Given the description of an element on the screen output the (x, y) to click on. 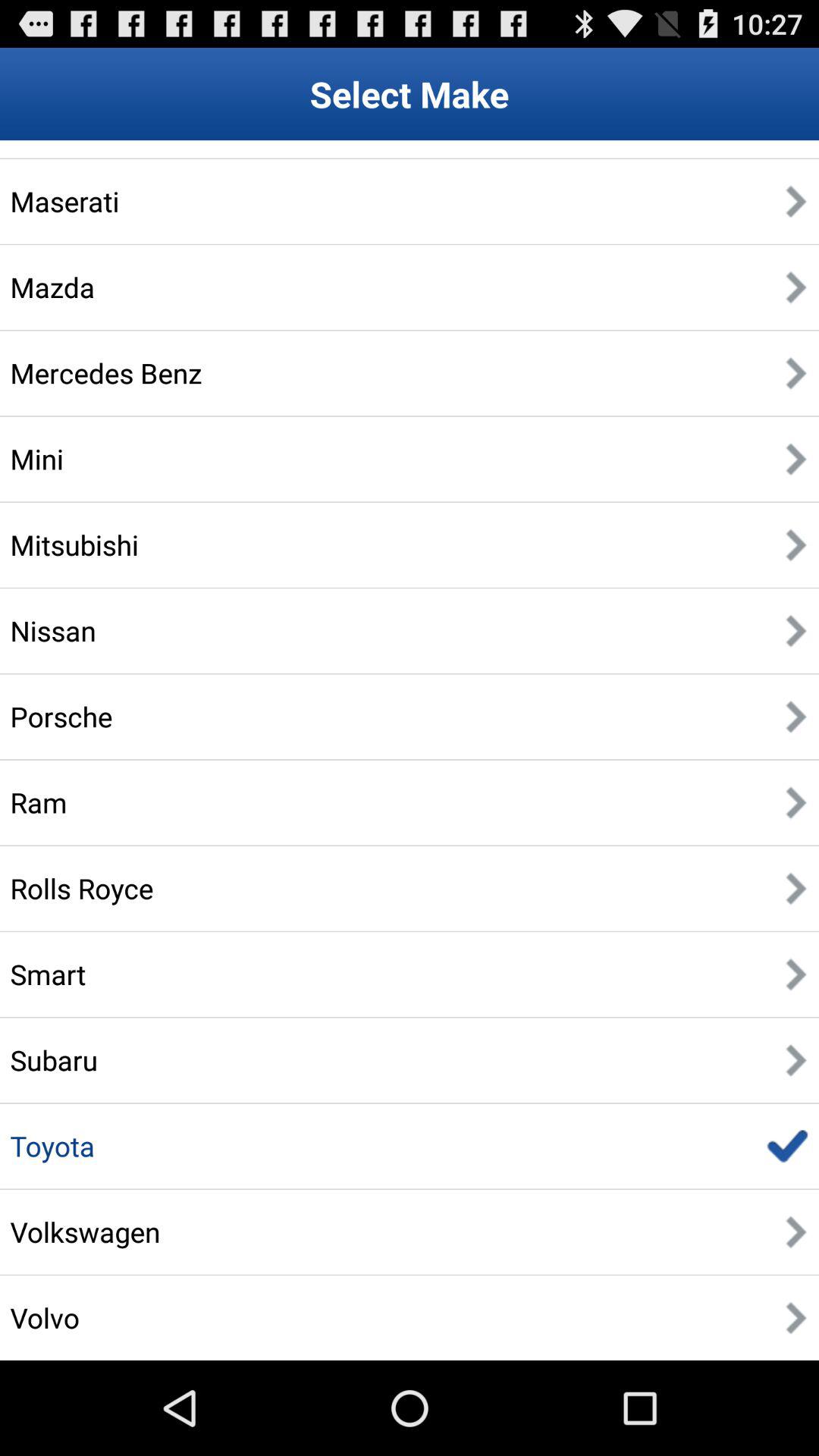
scroll to the volvo (44, 1317)
